Given the description of an element on the screen output the (x, y) to click on. 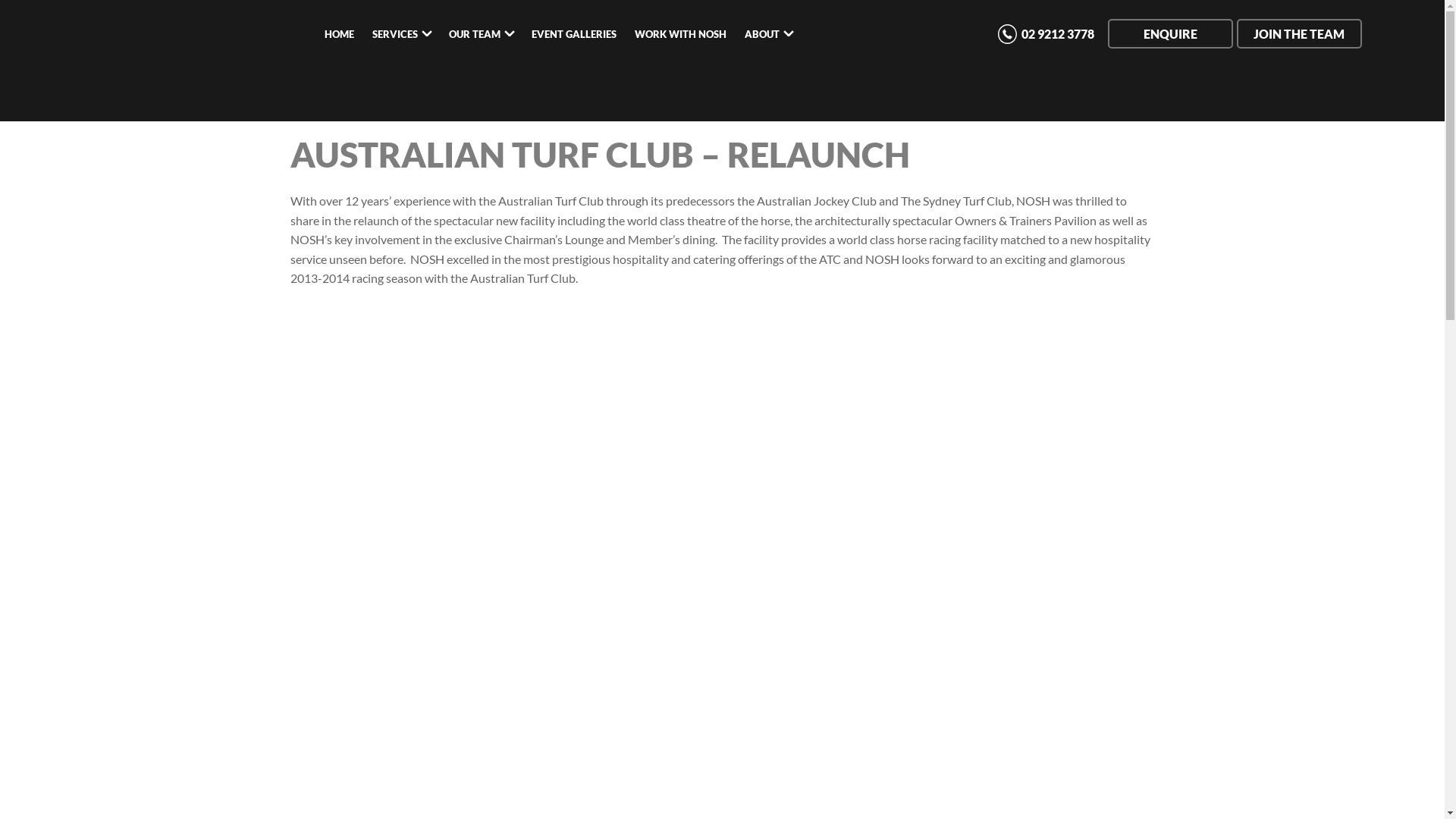
OUR TEAM Element type: text (480, 34)
WORK WITH NOSH Element type: text (680, 34)
EVENT GALLERIES Element type: text (573, 34)
SERVICES Element type: text (401, 34)
ENQUIRE Element type: text (1169, 33)
JOIN THE TEAM Element type: text (1298, 33)
ABOUT Element type: text (768, 34)
HOME Element type: text (339, 34)
